Given the description of an element on the screen output the (x, y) to click on. 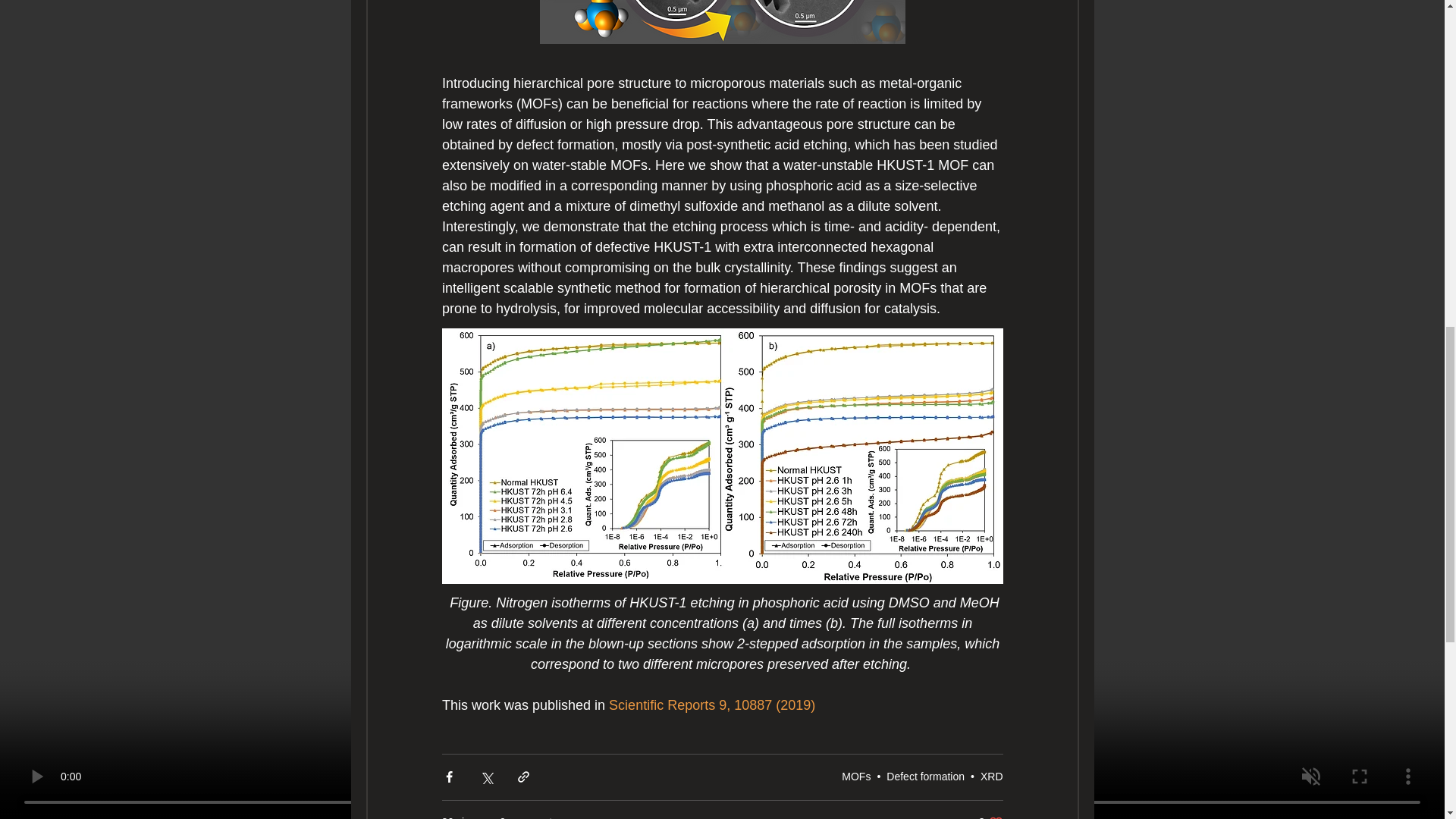
Defect formation (924, 776)
MOFs (990, 816)
XRD (855, 776)
